Given the description of an element on the screen output the (x, y) to click on. 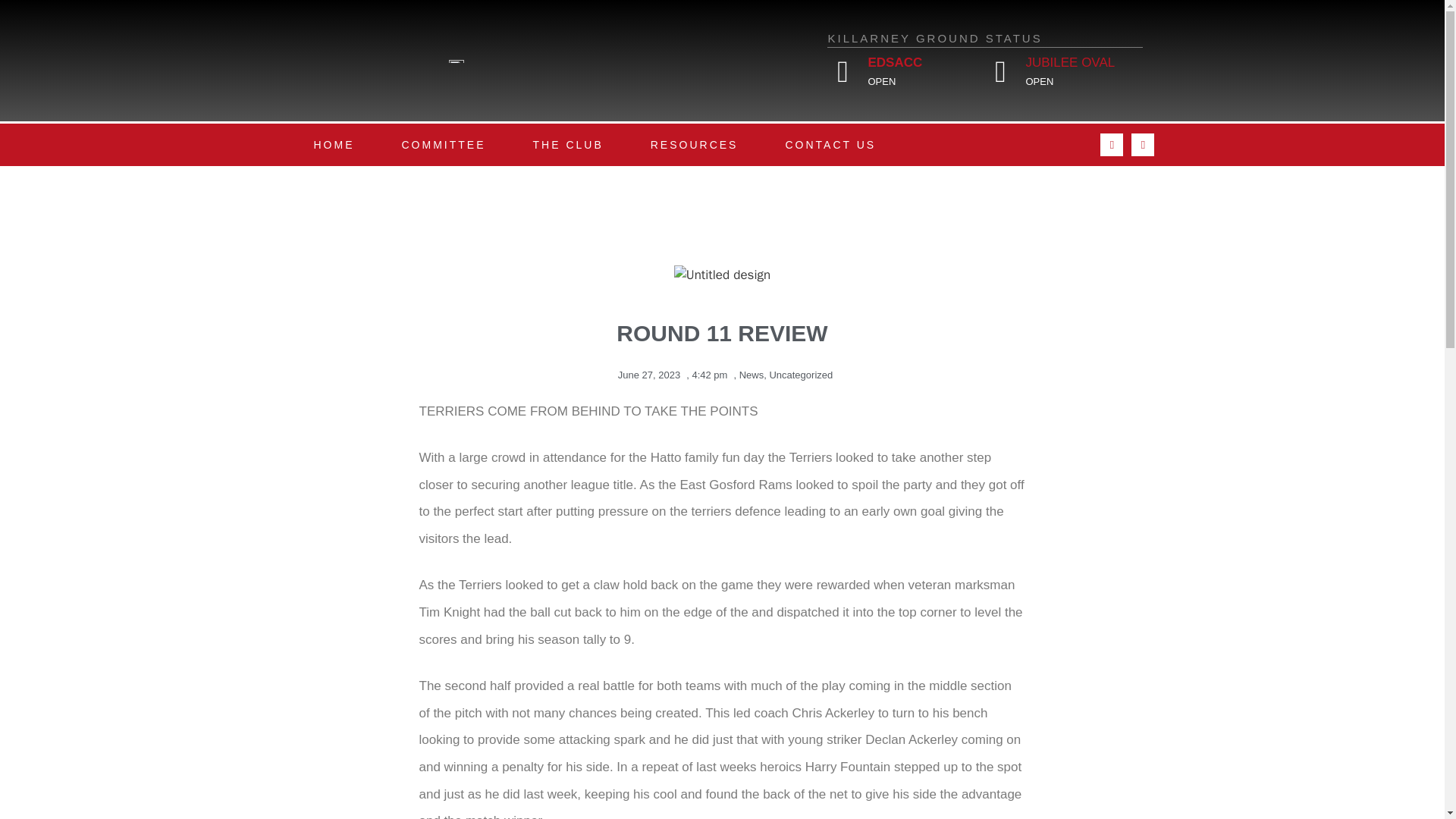
RESOURCES (694, 144)
HOME (333, 144)
CONTACT US (830, 144)
THE CLUB (568, 144)
COMMITTEE (442, 144)
Untitled design (722, 275)
News (751, 374)
Uncategorized (800, 374)
June 27, 2023 (645, 375)
